Given the description of an element on the screen output the (x, y) to click on. 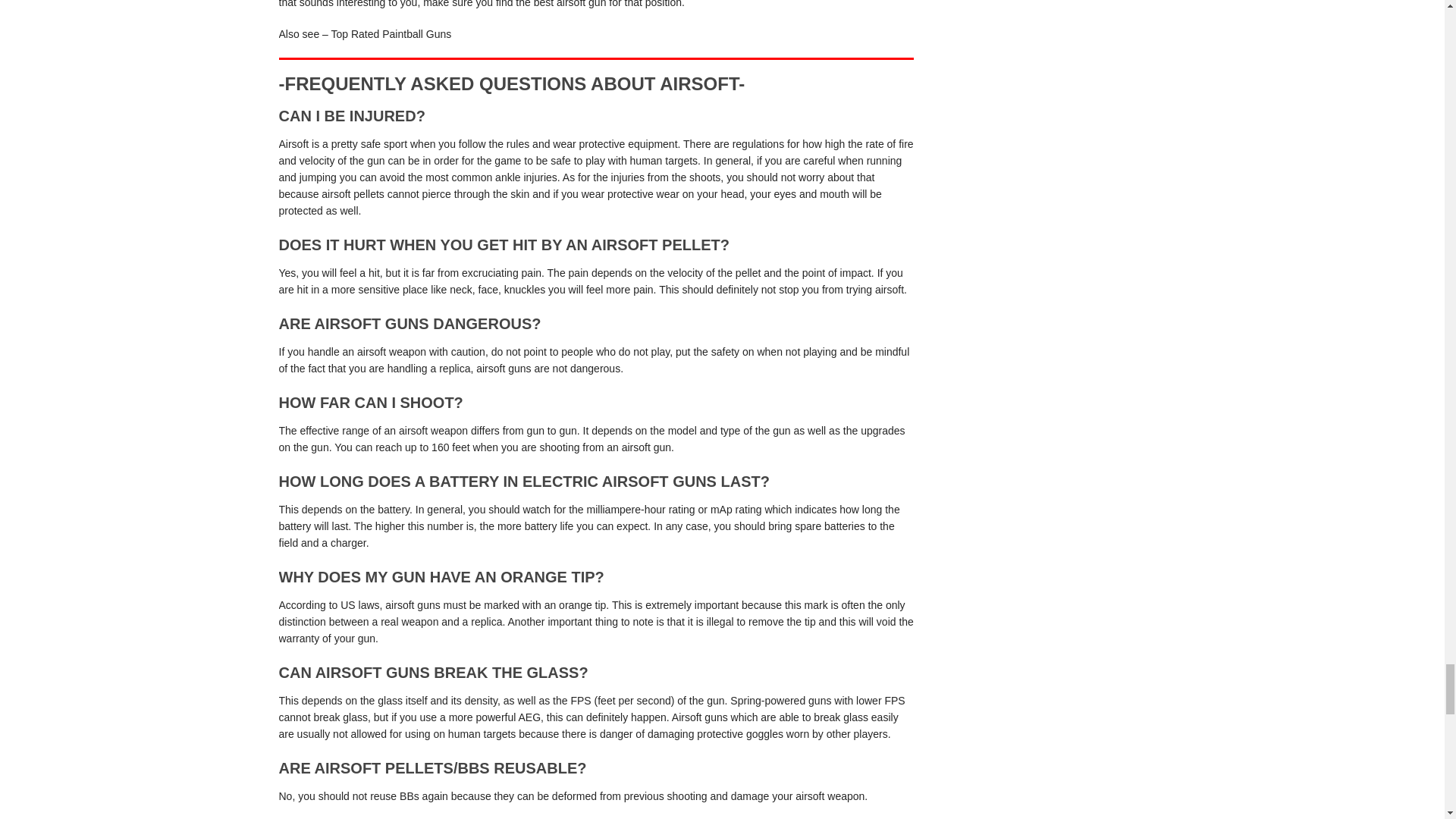
Top Rated Paintball Guns (391, 33)
